Given the description of an element on the screen output the (x, y) to click on. 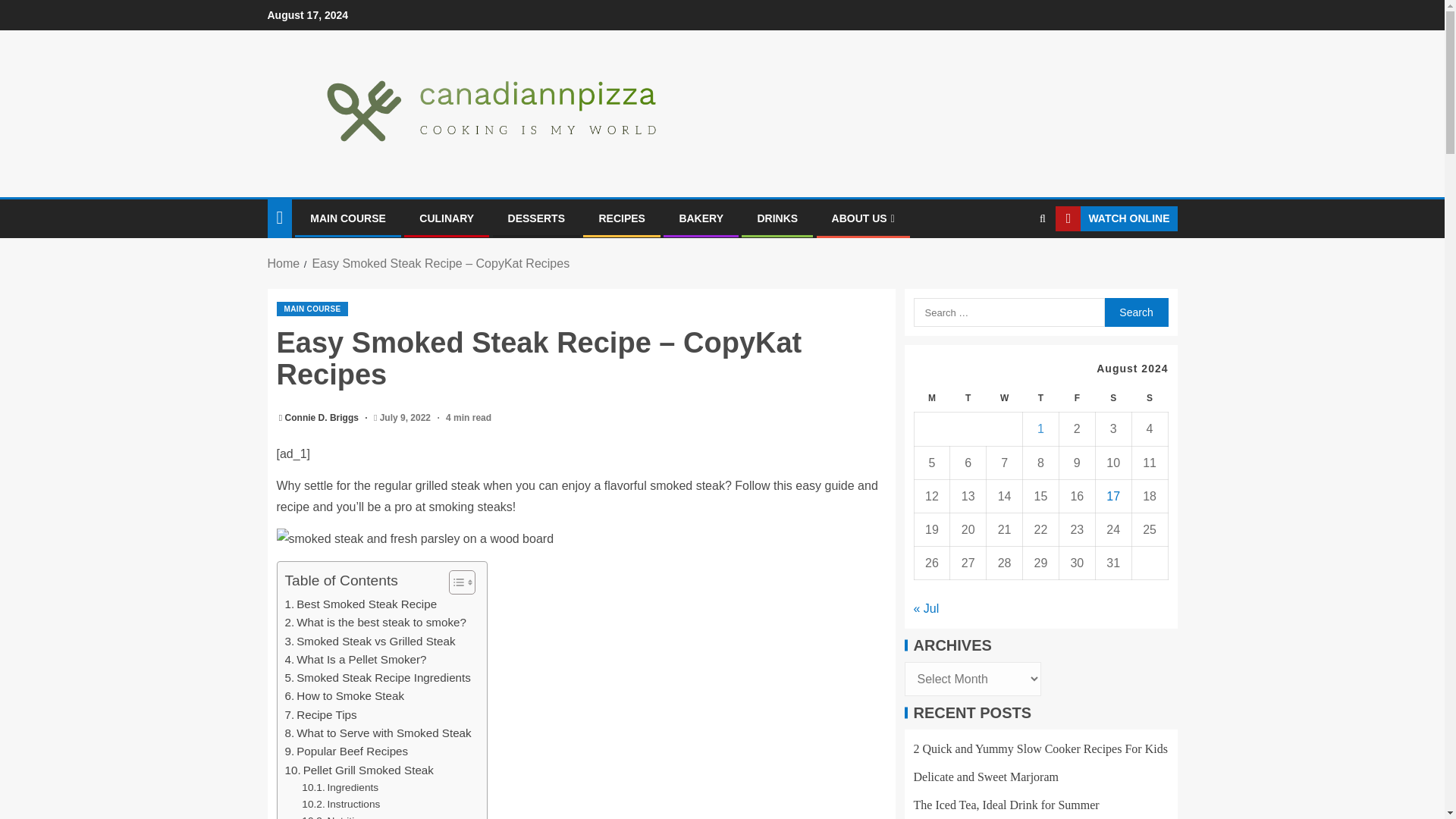
WATCH ONLINE (1115, 218)
Search (1013, 265)
Ingredients (339, 787)
Recipe Tips (320, 714)
Instructions (340, 804)
Smoked Steak Recipe Ingredients (377, 678)
DRINKS (777, 218)
Ingredients (339, 787)
Smoked Steak vs Grilled Steak (370, 641)
Smoked Steak vs Grilled Steak (370, 641)
